Given the description of an element on the screen output the (x, y) to click on. 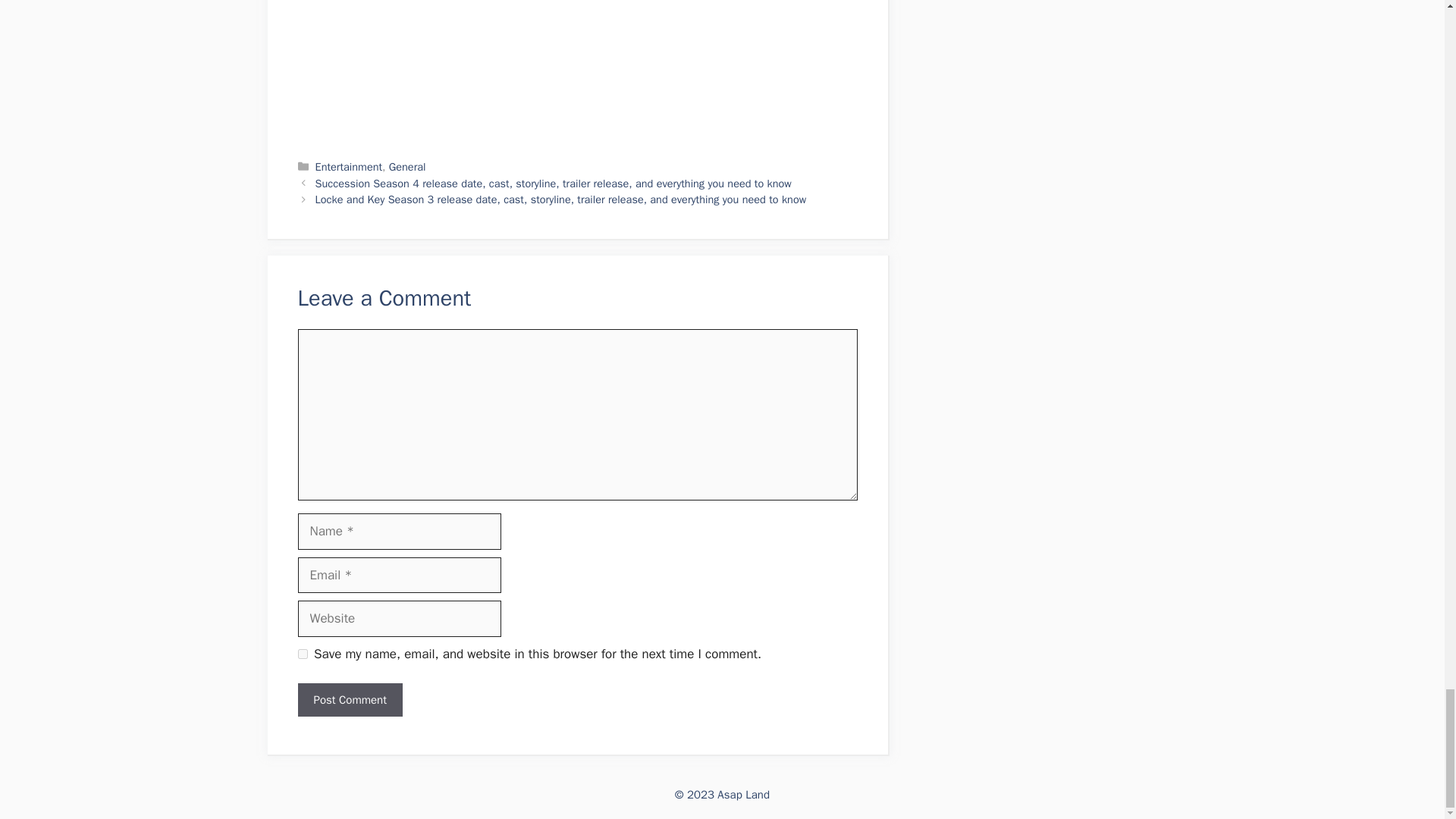
General (407, 166)
yes (302, 654)
Post Comment (349, 700)
Post Comment (349, 700)
Entertainment (348, 166)
